Given the description of an element on the screen output the (x, y) to click on. 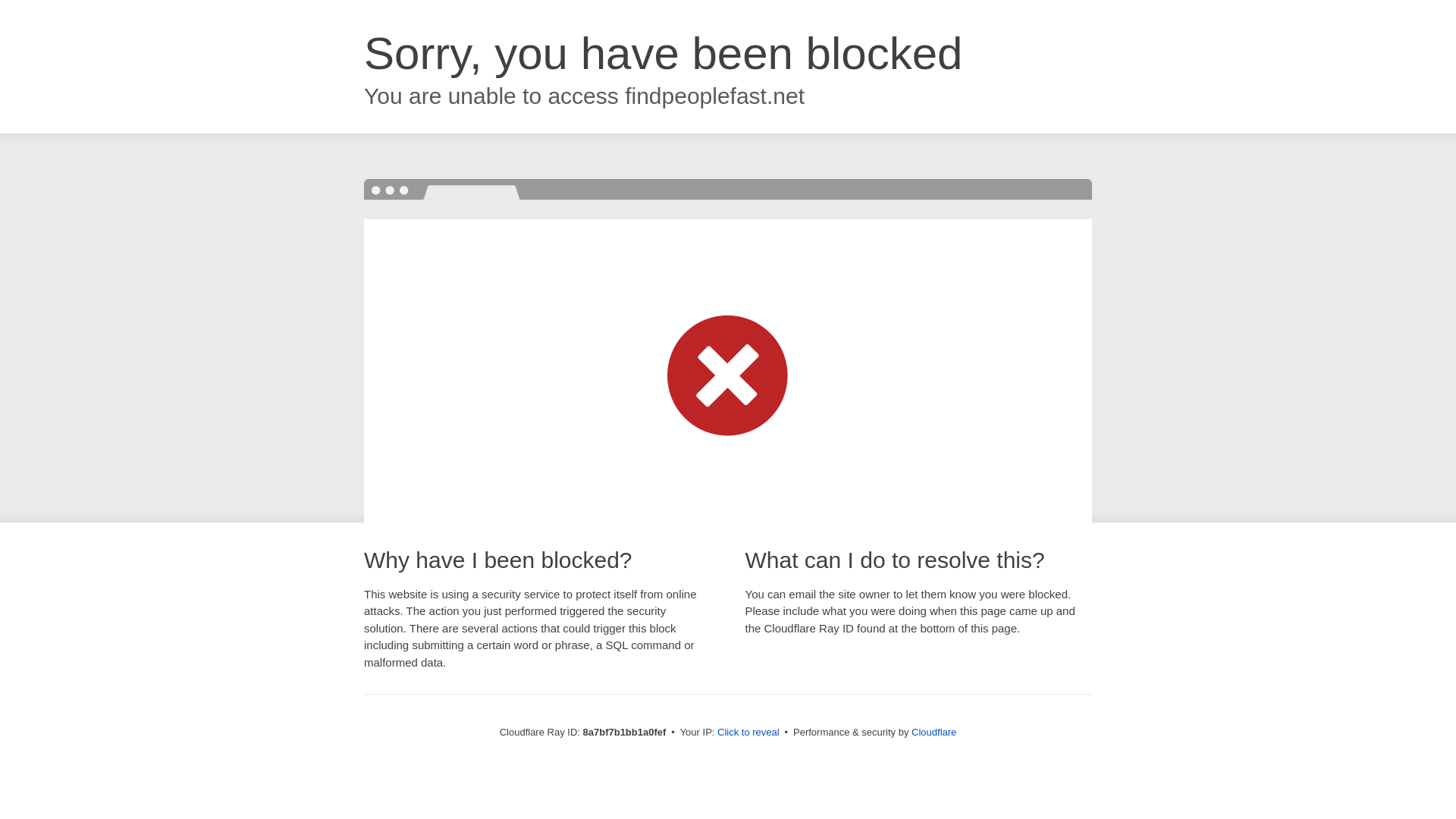
Cloudflare (933, 731)
Click to reveal (747, 732)
